Given the description of an element on the screen output the (x, y) to click on. 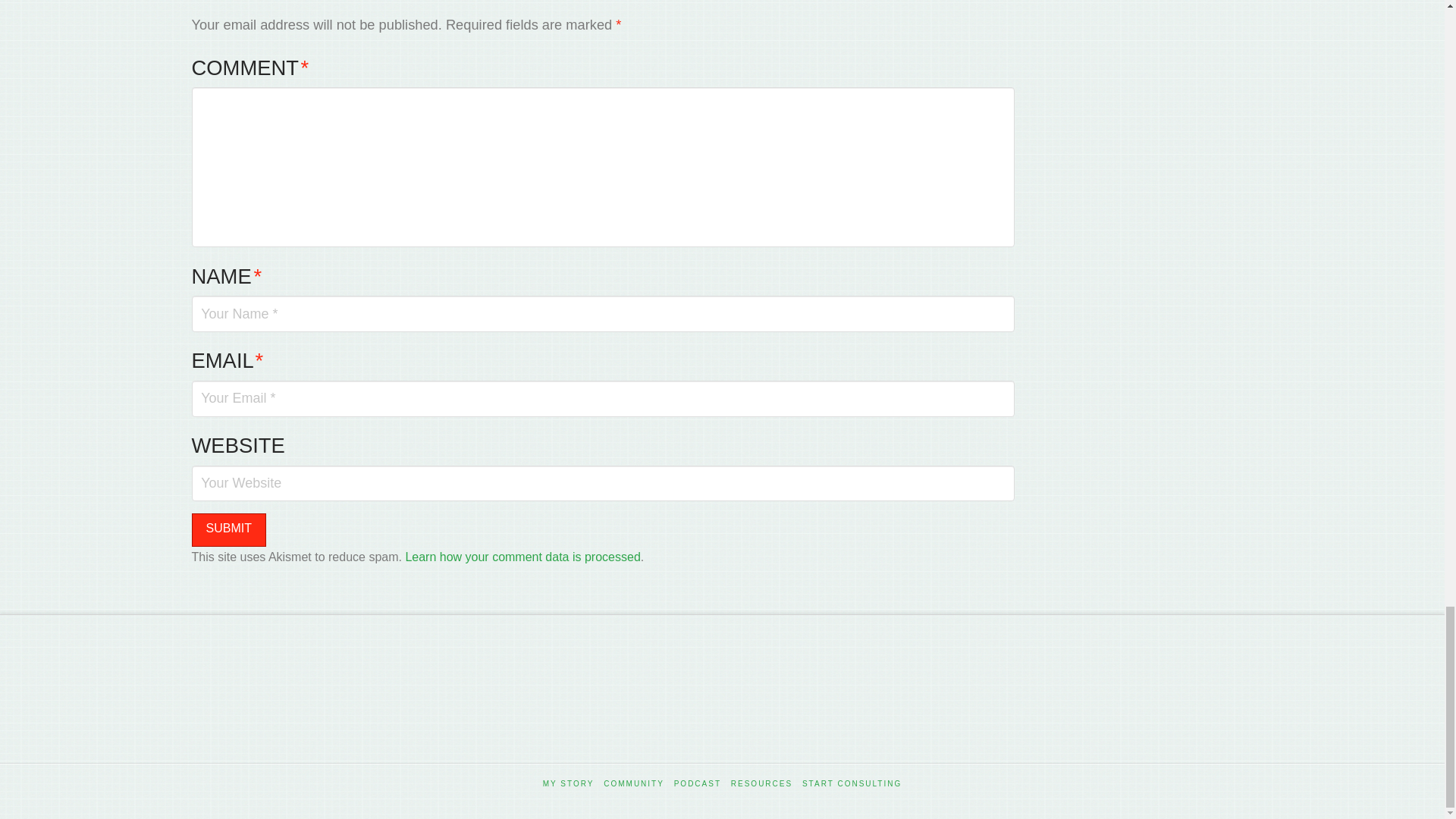
Submit (227, 530)
Learn how your comment data is processed (522, 556)
Submit (227, 530)
MY STORY (568, 783)
COMMUNITY (633, 783)
